Given the description of an element on the screen output the (x, y) to click on. 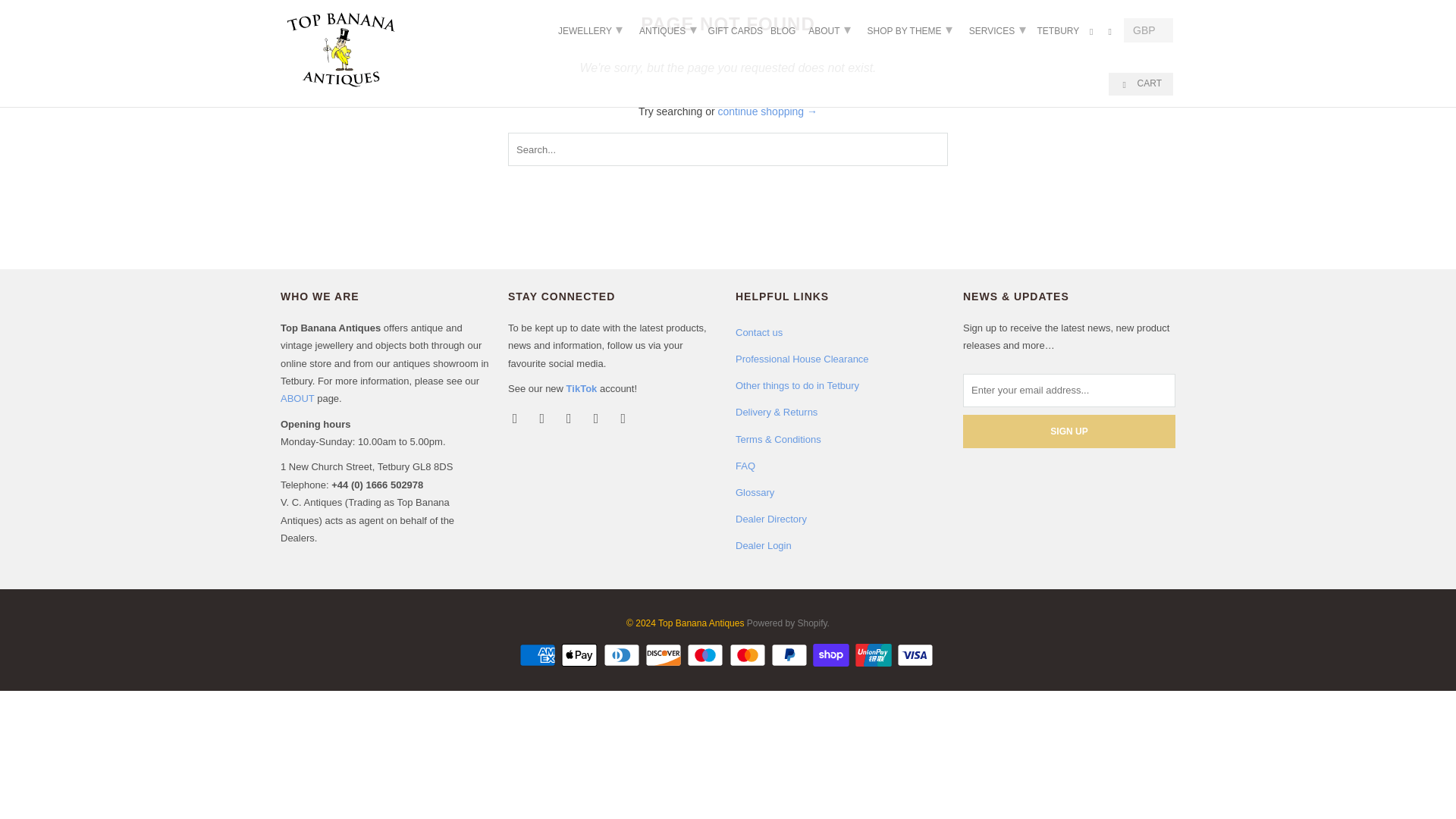
Top Banana Antiques on Twitter (516, 417)
American Express (539, 654)
Apple Pay (579, 654)
Top Banana Antiques on Instagram (624, 417)
PayPal (790, 654)
Discover (664, 654)
Sign Up (1068, 430)
Top Banana Antiques (341, 49)
Top Banana Antiques on Pinterest (597, 417)
Maestro (706, 654)
Diners Club (623, 654)
Union Pay (875, 654)
About us (297, 398)
My Account  (1091, 33)
Top Banana Antiques on Facebook (543, 417)
